Given the description of an element on the screen output the (x, y) to click on. 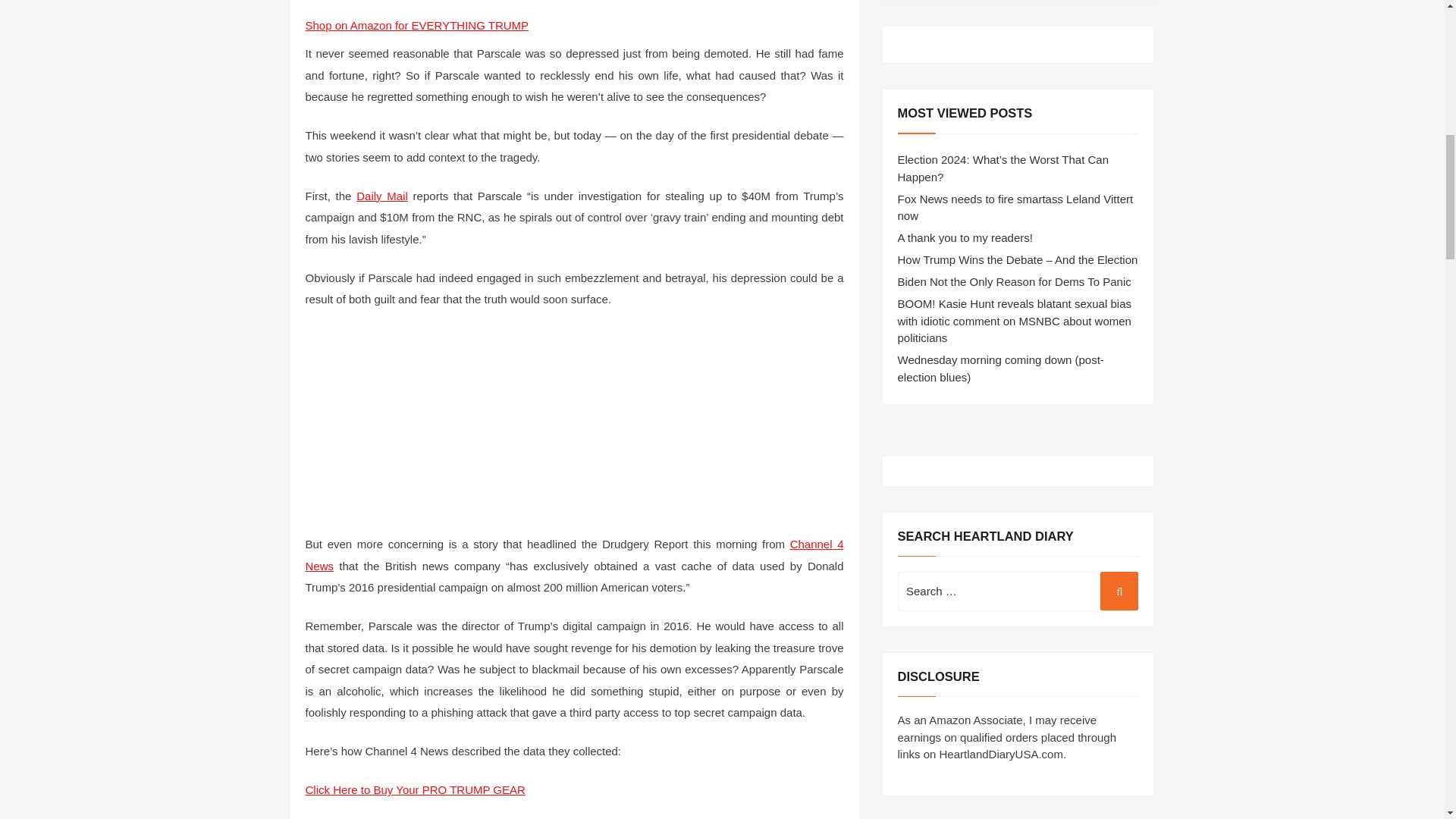
Channel 4 News (573, 554)
Shop on Amazon for EVERYTHING TRUMP (416, 24)
Click Here to Buy Your PRO TRUMP GEAR (414, 789)
Daily Mail (381, 195)
